Given the description of an element on the screen output the (x, y) to click on. 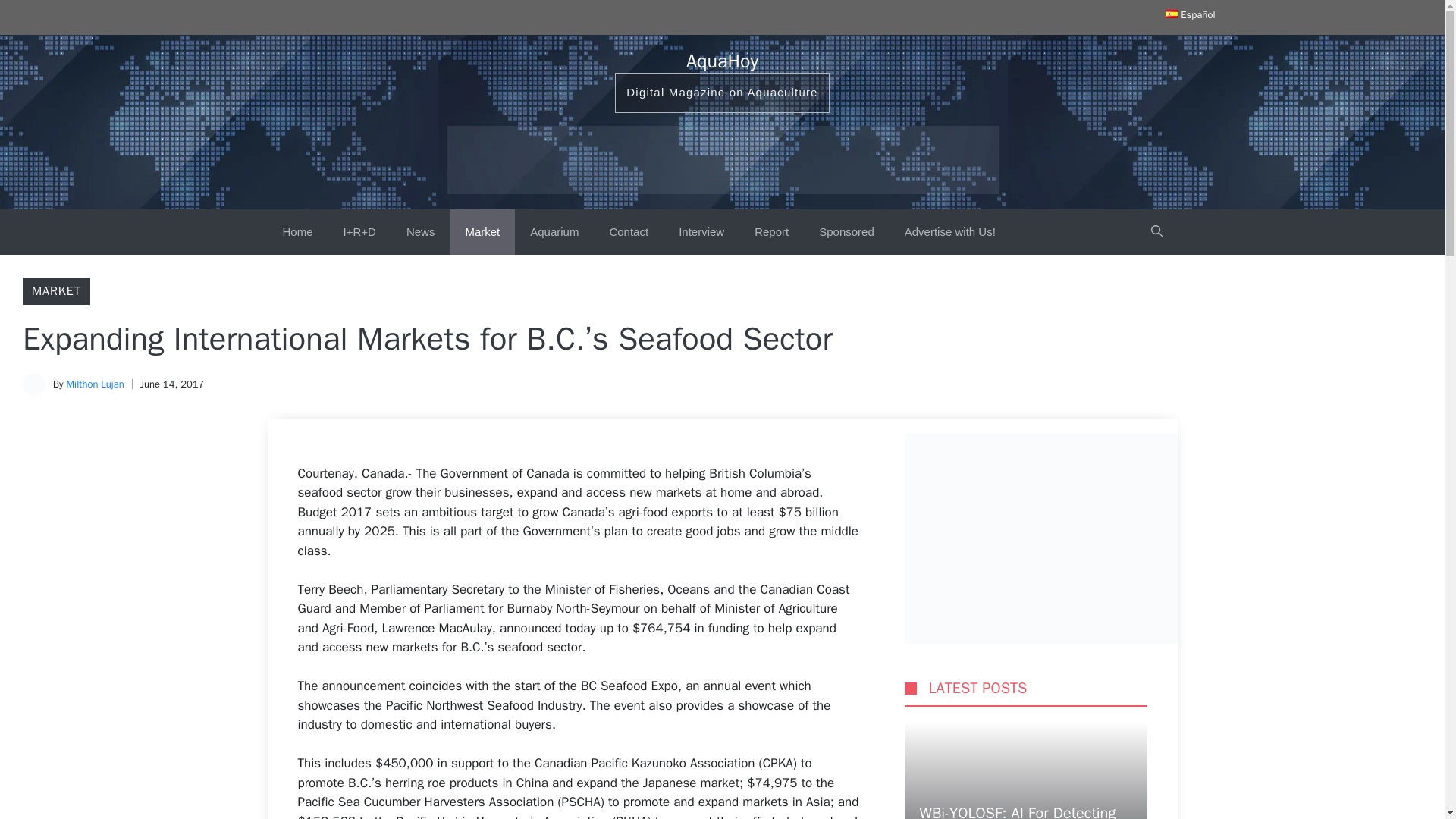
News (420, 231)
Contact (628, 231)
Report (771, 231)
Sponsored (846, 231)
AquaHoy (721, 60)
Interview (701, 231)
Milthon Lujan (94, 383)
Home (296, 231)
MARKET (56, 290)
Advertise with Us! (949, 231)
Market (482, 231)
Aquarium (554, 231)
